Given the description of an element on the screen output the (x, y) to click on. 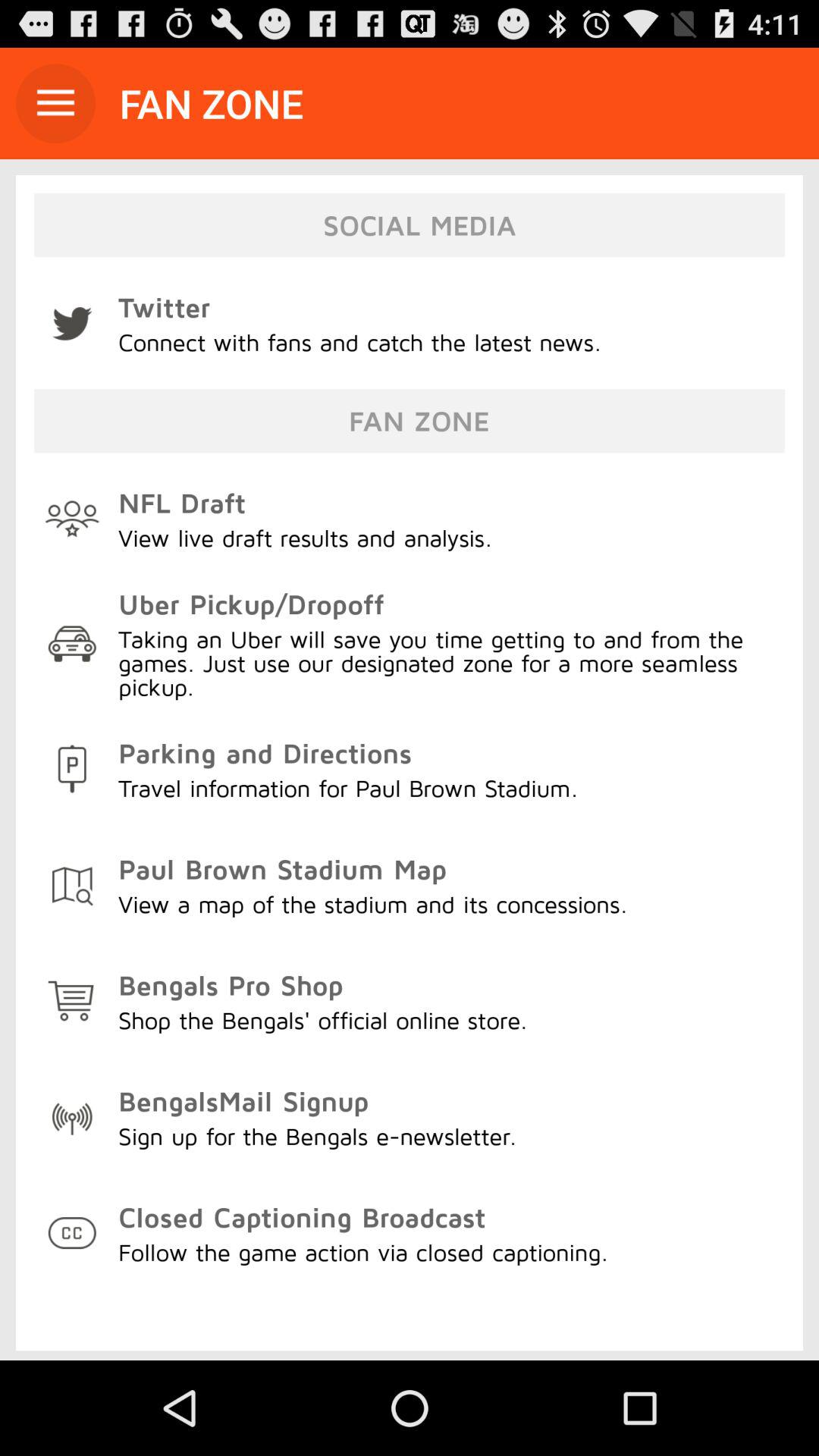
go to menu bar (55, 103)
